Given the description of an element on the screen output the (x, y) to click on. 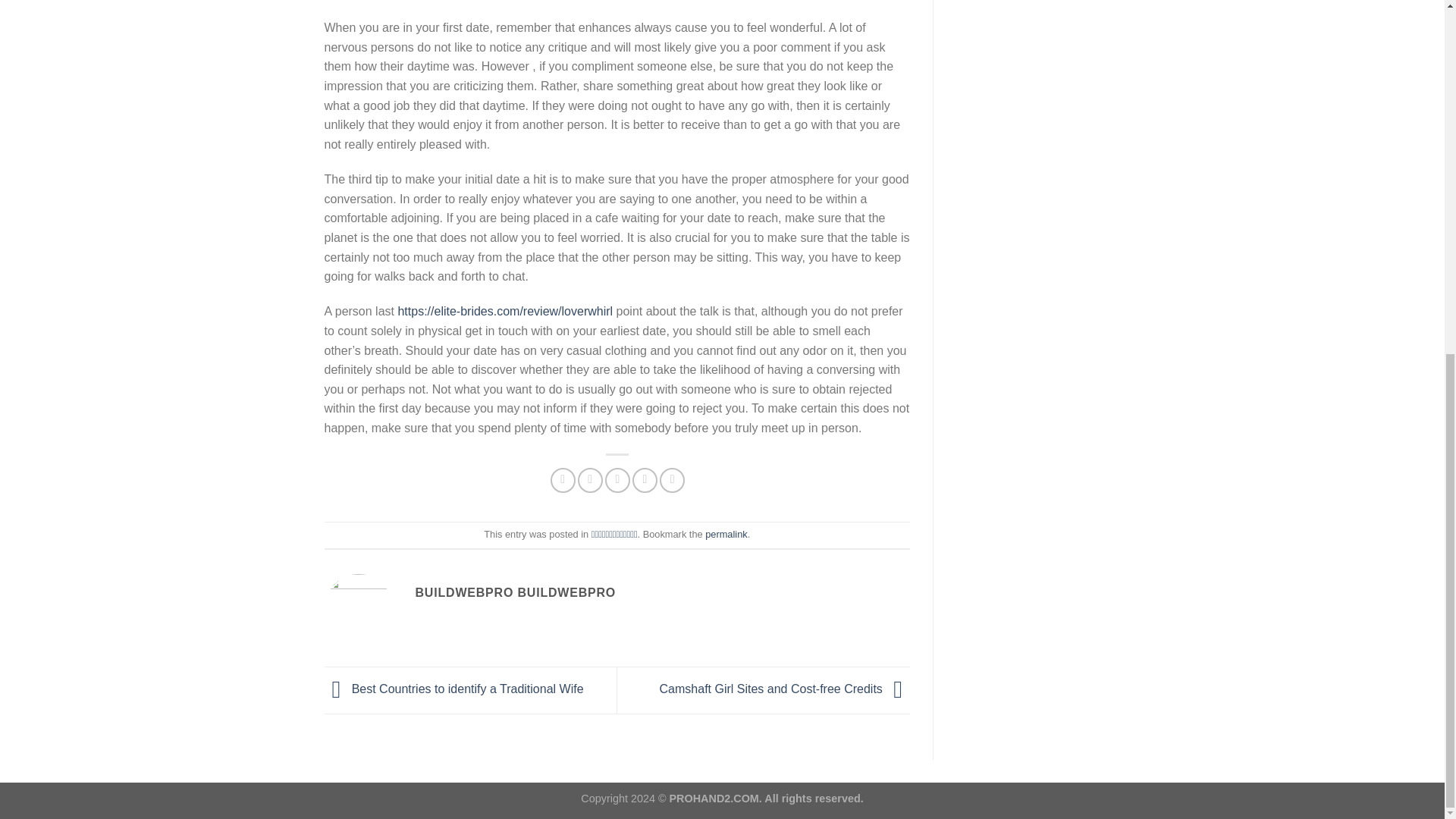
Share on LinkedIn (671, 480)
permalink (725, 533)
Share on Twitter (590, 480)
Email to a Friend (617, 480)
Pin on Pinterest (644, 480)
Best Countries to identify a Traditional Wife (453, 689)
Camshaft Girl Sites and Cost-free Credits (784, 689)
Share on Facebook (562, 480)
